Given the description of an element on the screen output the (x, y) to click on. 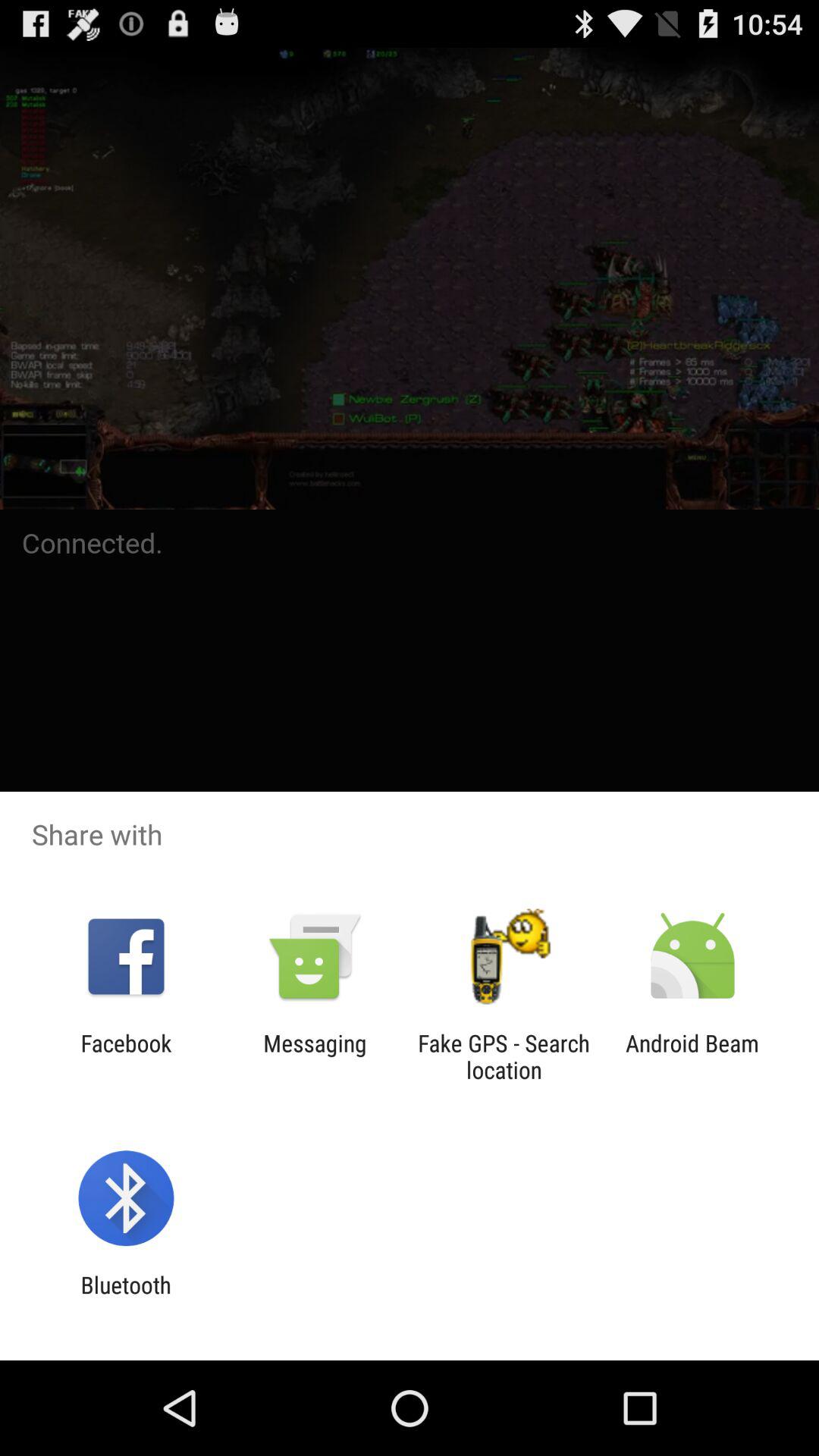
flip until the android beam (692, 1056)
